Given the description of an element on the screen output the (x, y) to click on. 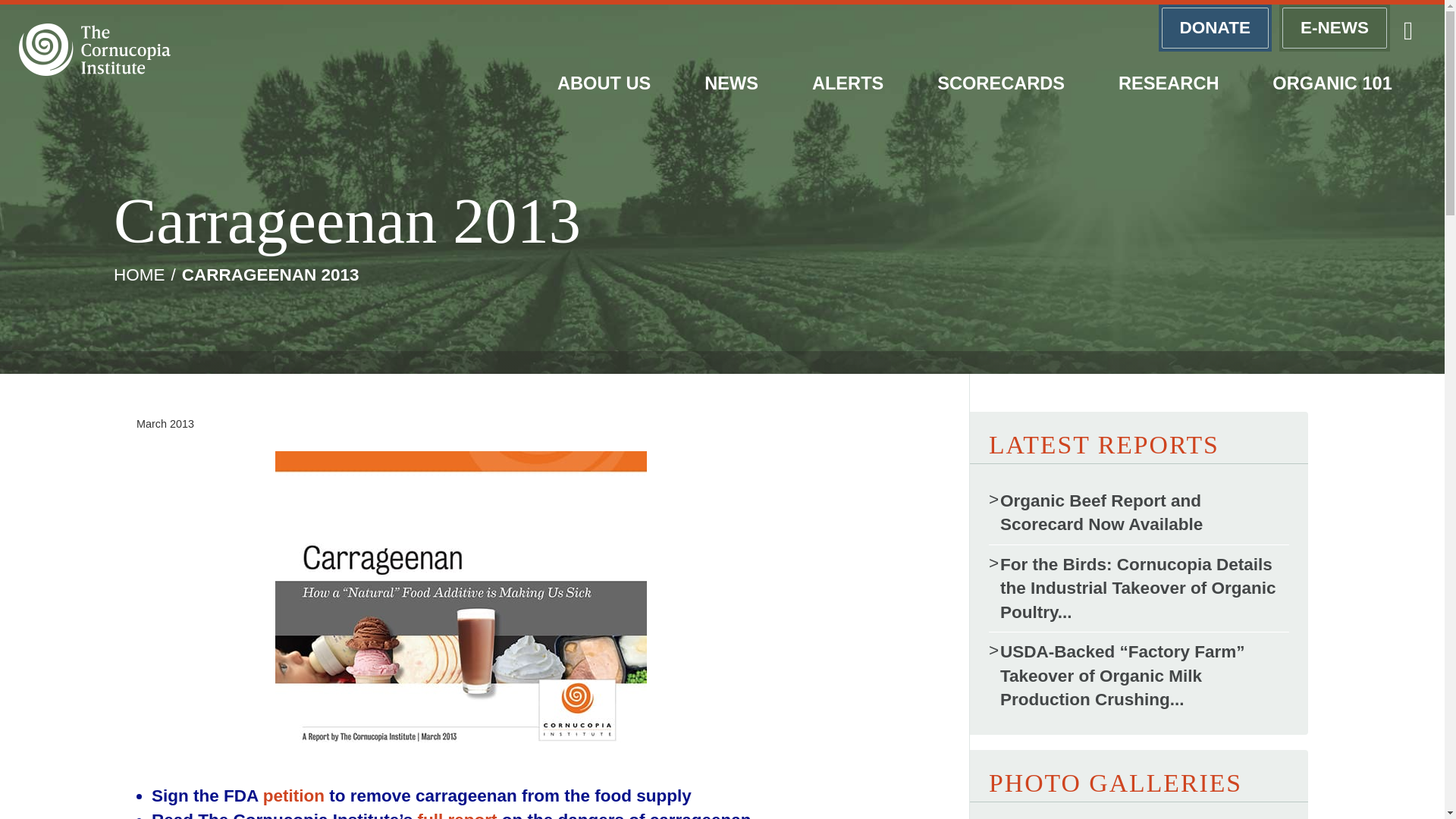
Organic Beef Report and Scorecard Now Available (1138, 512)
ABOUT US (604, 83)
HOME (139, 274)
full report (456, 814)
ORGANIC 101 (1332, 83)
petition (293, 795)
DONATE (1214, 27)
E-NEWS (1334, 27)
Go to Cornucopia Institute. (139, 274)
SCORECARDS (1001, 83)
ALERTS (847, 83)
NEWS (732, 83)
Cornucopia Institute (94, 49)
RESEARCH (1169, 83)
